Given the description of an element on the screen output the (x, y) to click on. 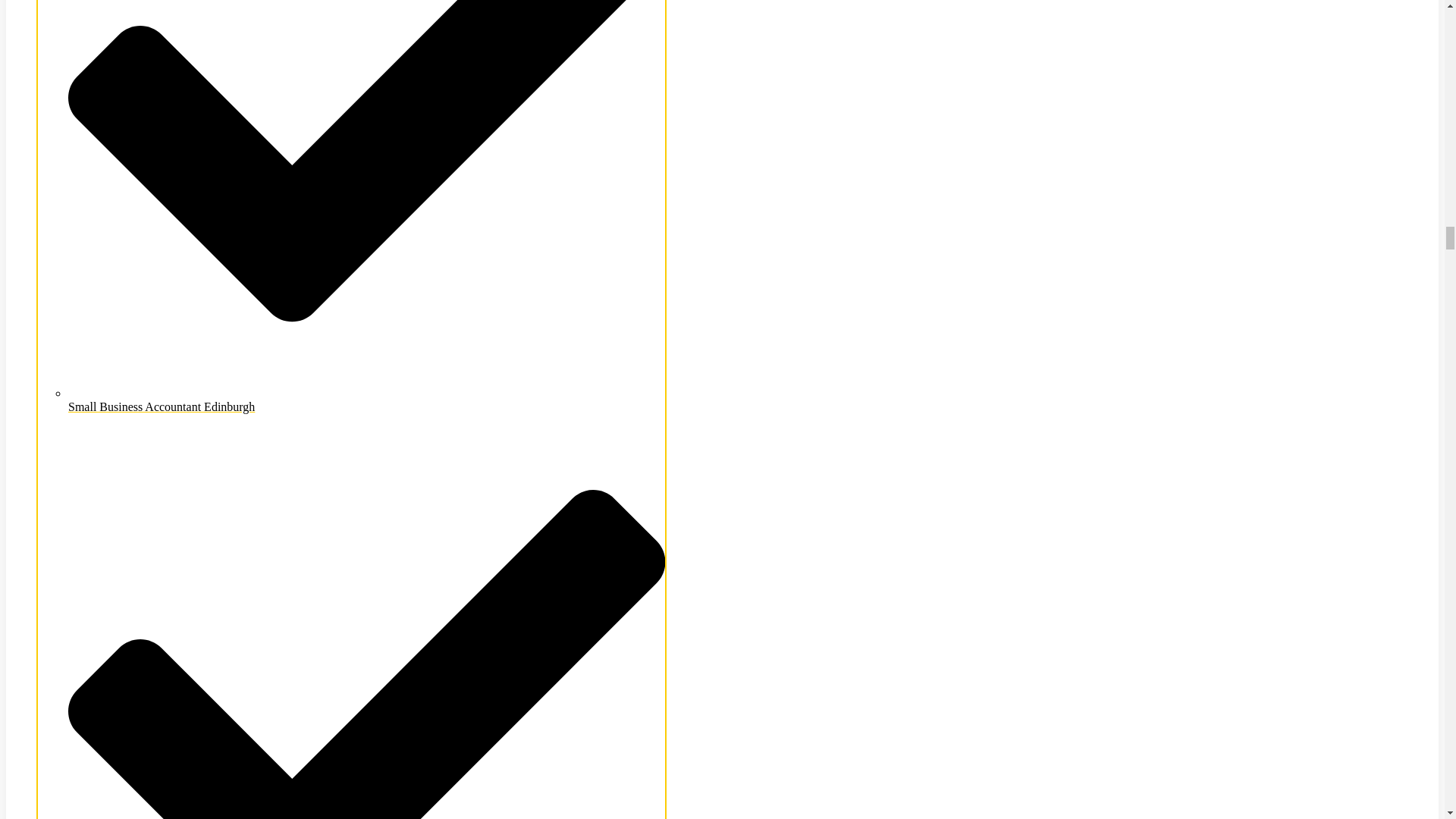
Small Business Accountant Edinburgh (366, 399)
